Given the description of an element on the screen output the (x, y) to click on. 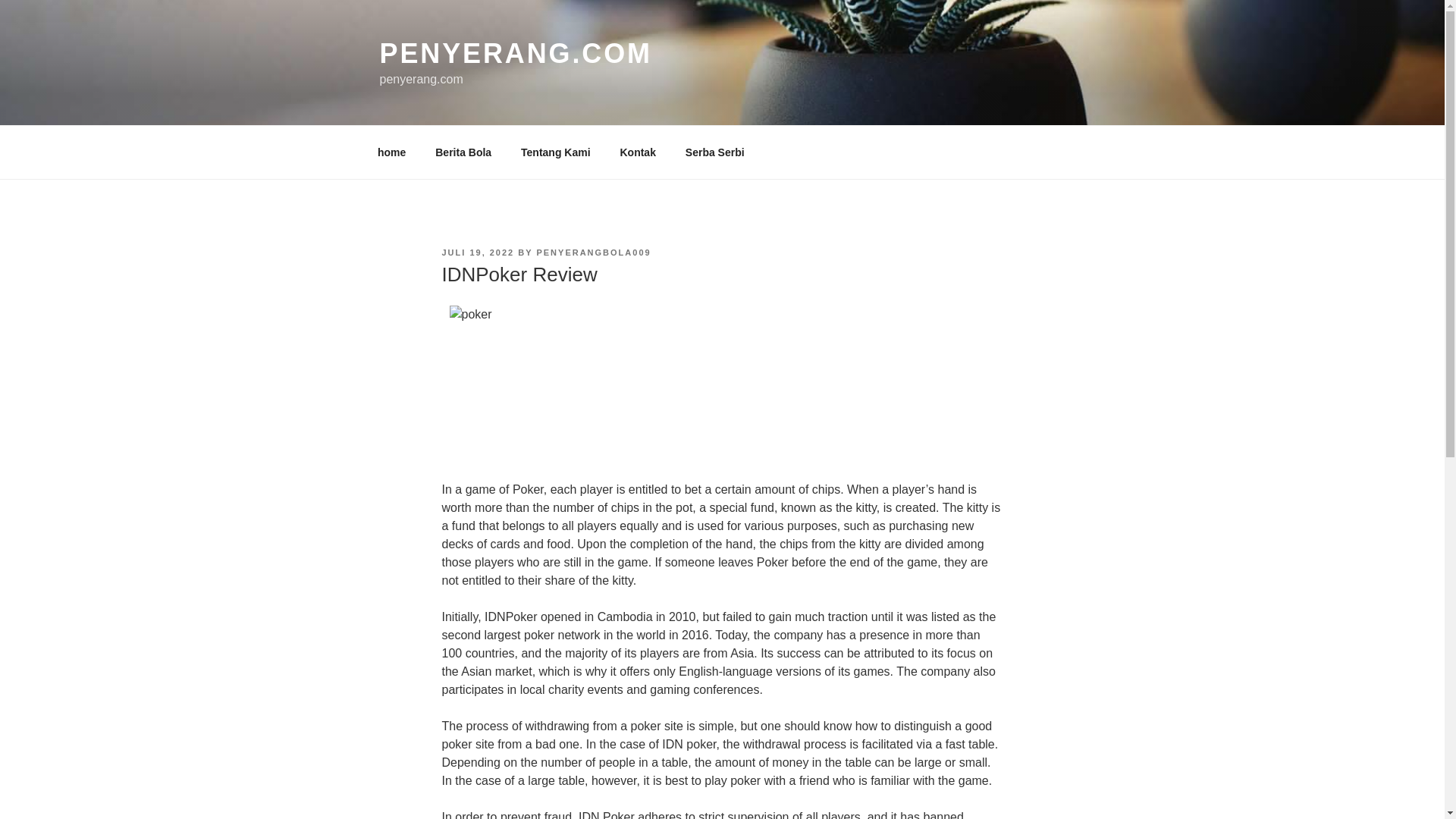
home (391, 151)
JULI 19, 2022 (477, 252)
Serba Serbi (714, 151)
Tentang Kami (556, 151)
Kontak (637, 151)
PENYERANG.COM (514, 52)
Berita Bola (463, 151)
PENYERANGBOLA009 (592, 252)
